Given the description of an element on the screen output the (x, y) to click on. 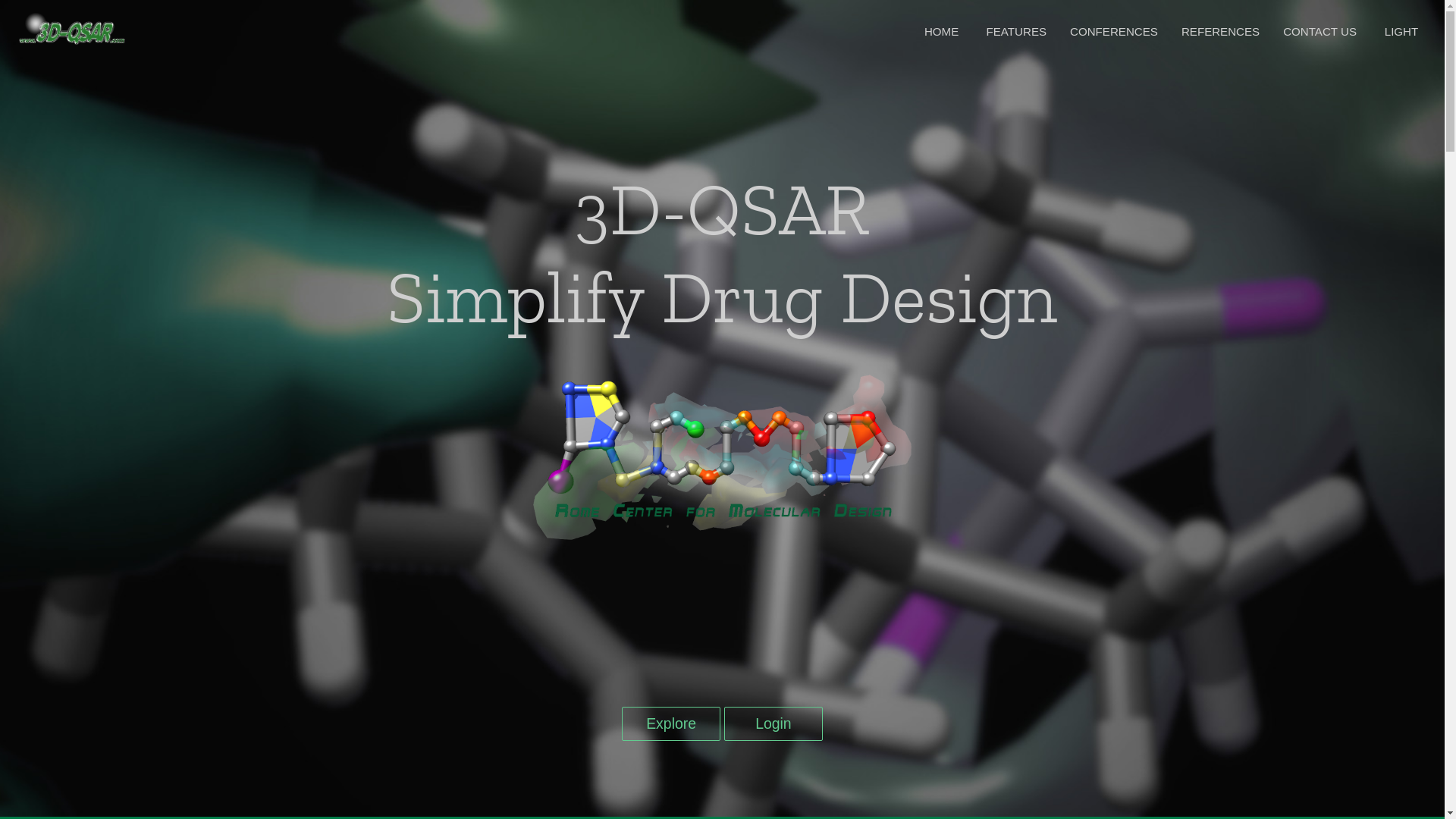
LIGHT Element type: text (1401, 31)
REFERENCES Element type: text (1220, 31)
Explore Element type: text (670, 723)
HOME Element type: text (941, 31)
CONTACT US Element type: text (1319, 31)
Login Element type: text (773, 723)
CONFERENCES Element type: text (1113, 31)
FEATURES Element type: text (1016, 31)
